Given the description of an element on the screen output the (x, y) to click on. 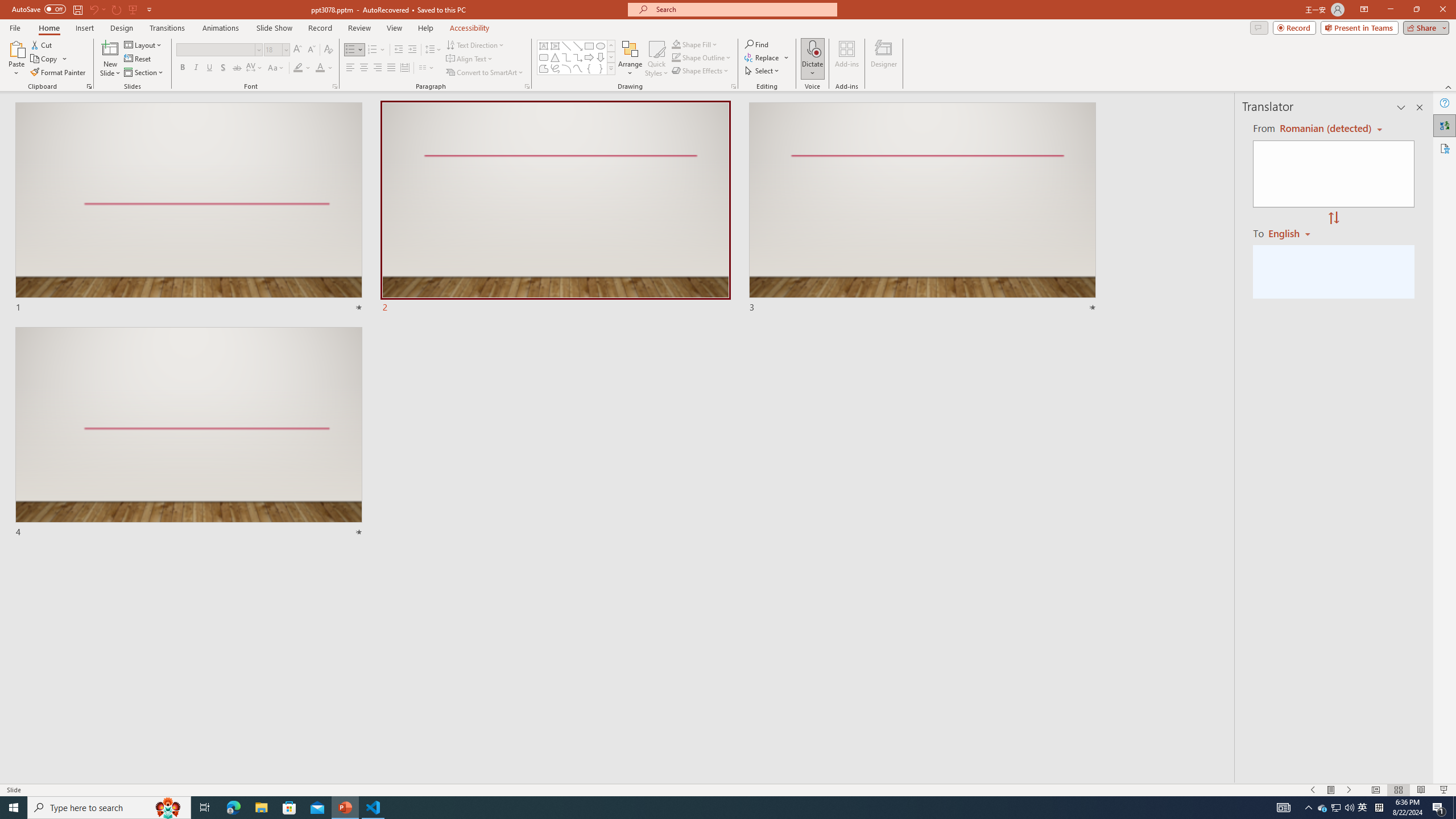
Shape Fill Dark Green, Accent 2 (675, 44)
